Given the description of an element on the screen output the (x, y) to click on. 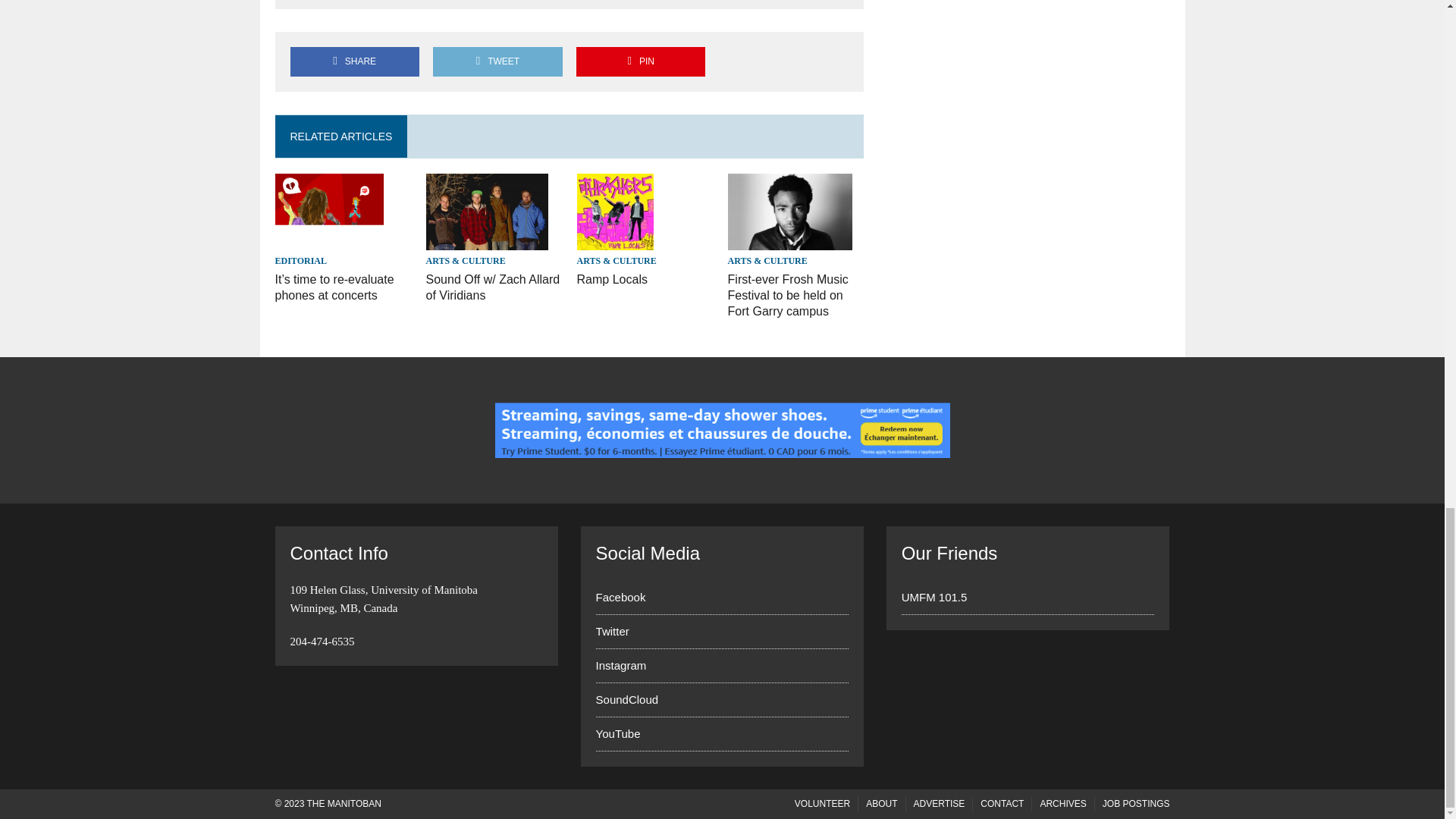
Pin This Post (640, 61)
Ramp Locals (611, 278)
Tweet This Post (497, 61)
Share on Facebook (354, 61)
Ramp Locals (614, 239)
